Given the description of an element on the screen output the (x, y) to click on. 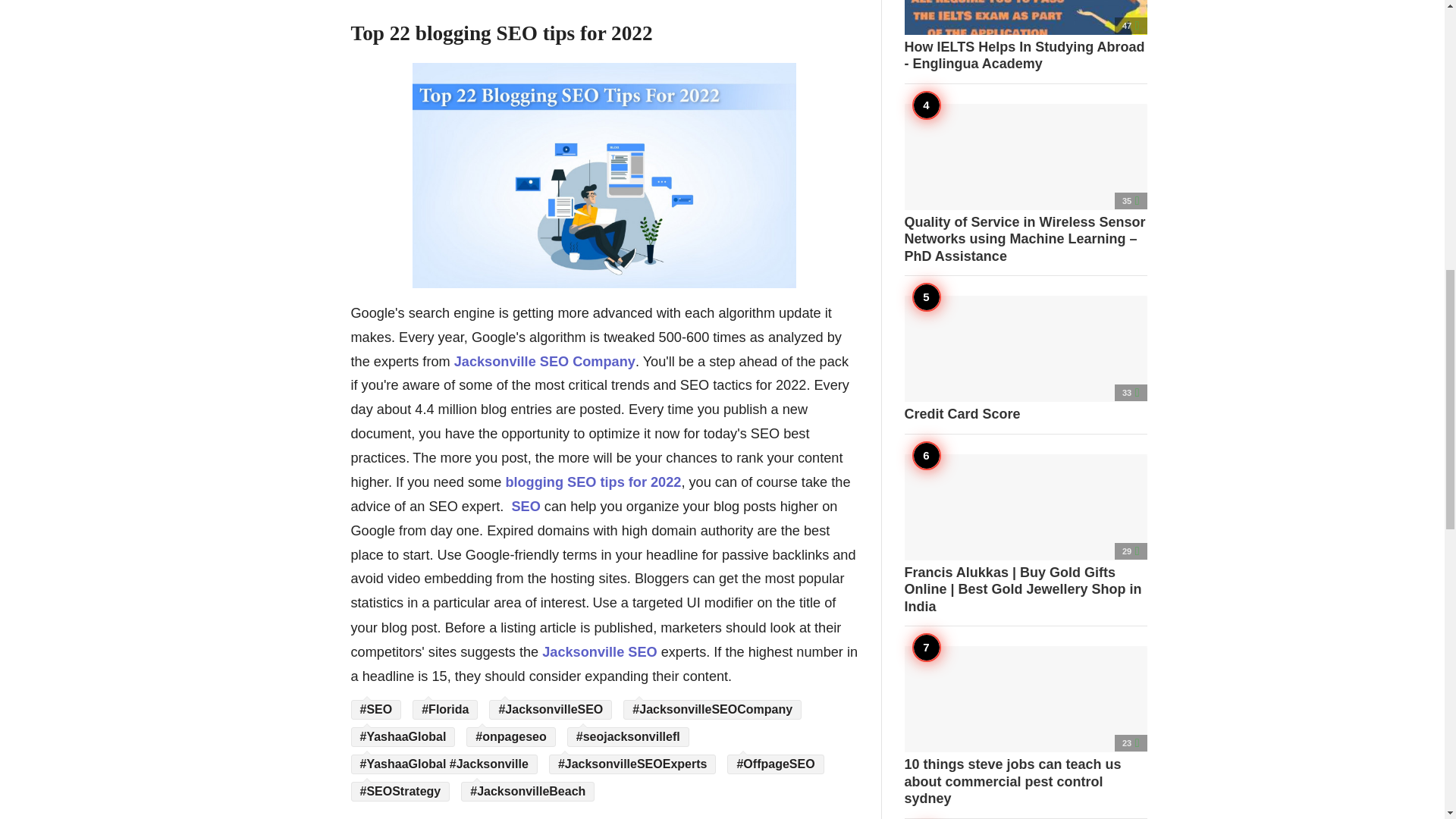
How IELTS Helps In Studying Abroad - Englingua Academy (1025, 36)
Credit Card Score (1025, 359)
